Given the description of an element on the screen output the (x, y) to click on. 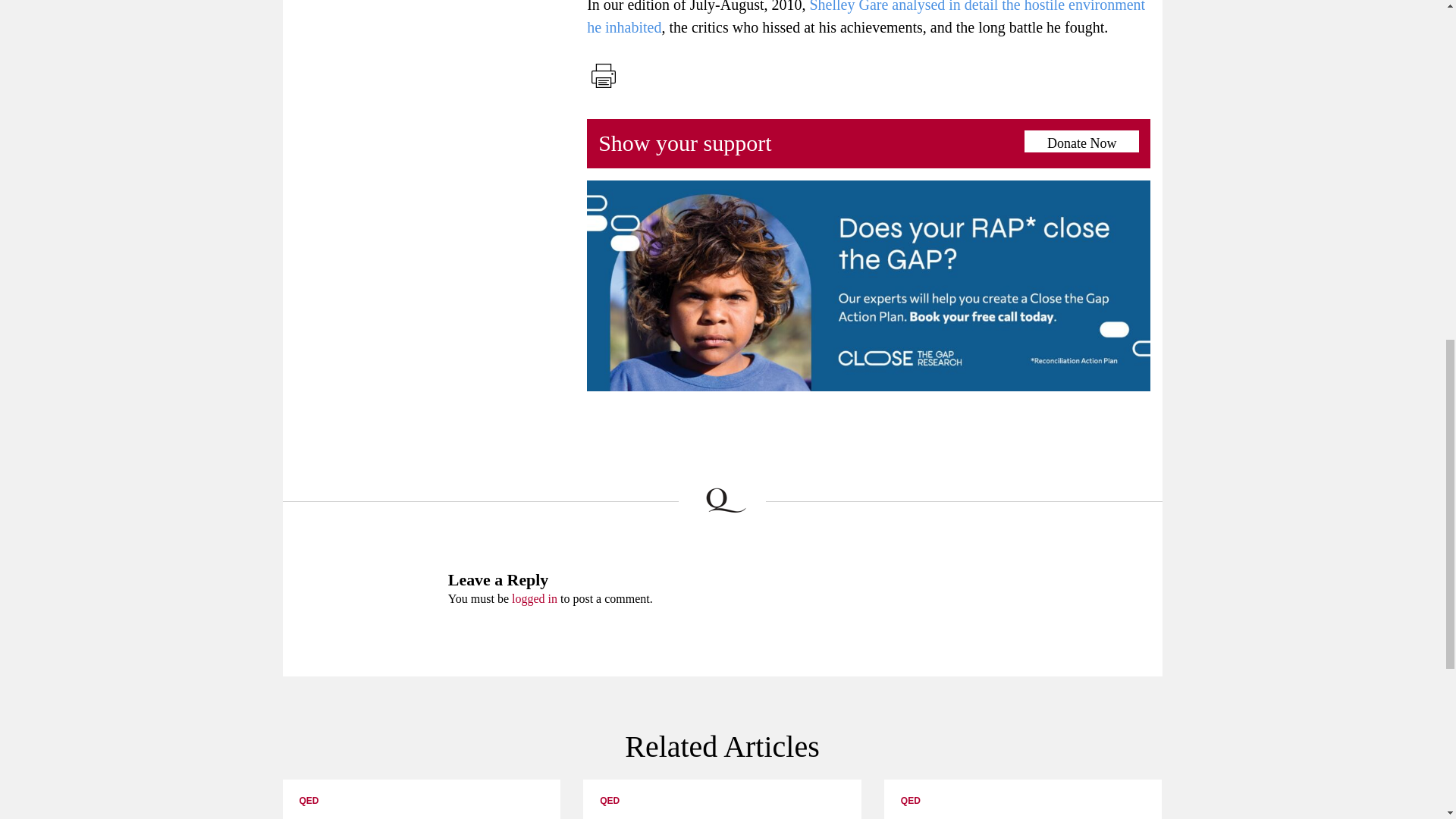
Print article (603, 75)
